Given the description of an element on the screen output the (x, y) to click on. 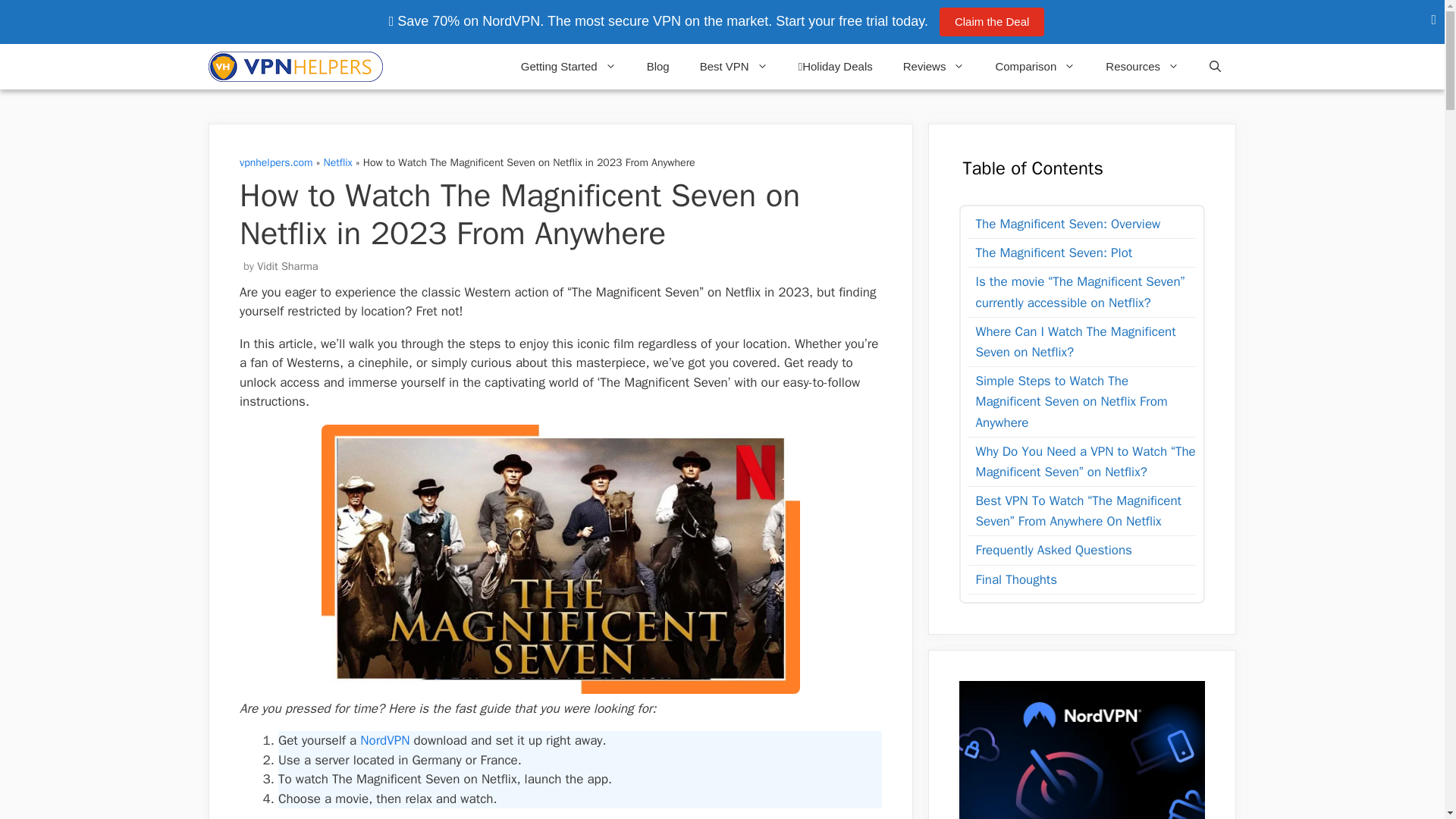
The Magnificent Seven: Overview (1064, 223)
Getting Started (568, 66)
Claim the Deal (991, 21)
Blog (657, 66)
Best VPN (733, 66)
VPN Helpers (295, 66)
Where Can I Watch The Magnificent Seven on Netflix? (1081, 341)
View all posts by Vidit Sharma (287, 265)
The Magnificent Seven: Plot (1050, 252)
